Given the description of an element on the screen output the (x, y) to click on. 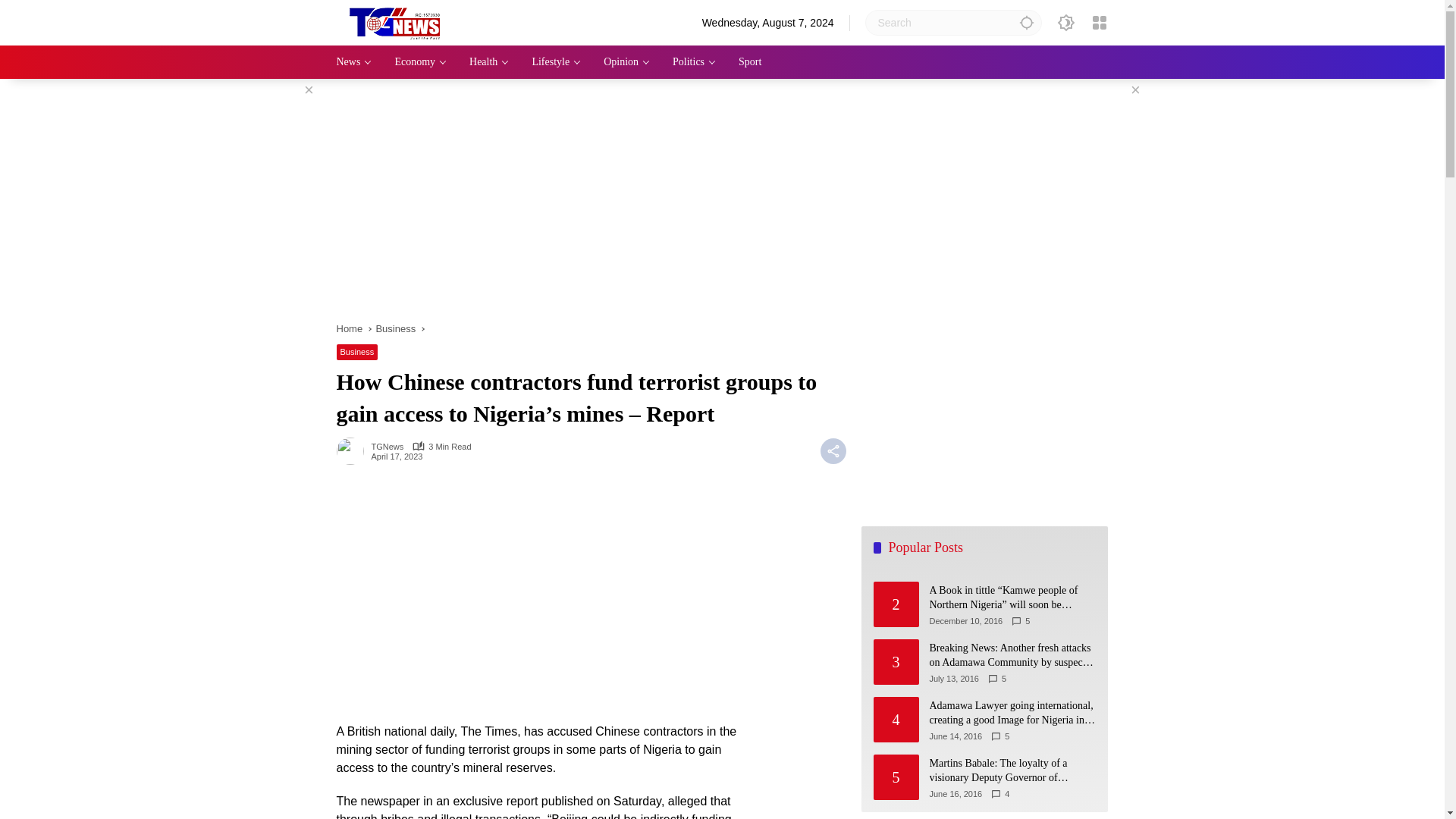
TGNews (387, 447)
Opinion (626, 61)
TG News (400, 21)
Business (357, 351)
Lifestyle (555, 61)
Economy (420, 61)
TGNews (387, 447)
Business (394, 328)
close (1134, 89)
Politics (694, 61)
News (354, 61)
Permalink to: TGNews (353, 450)
close (308, 89)
Health (488, 61)
Home (349, 328)
